Given the description of an element on the screen output the (x, y) to click on. 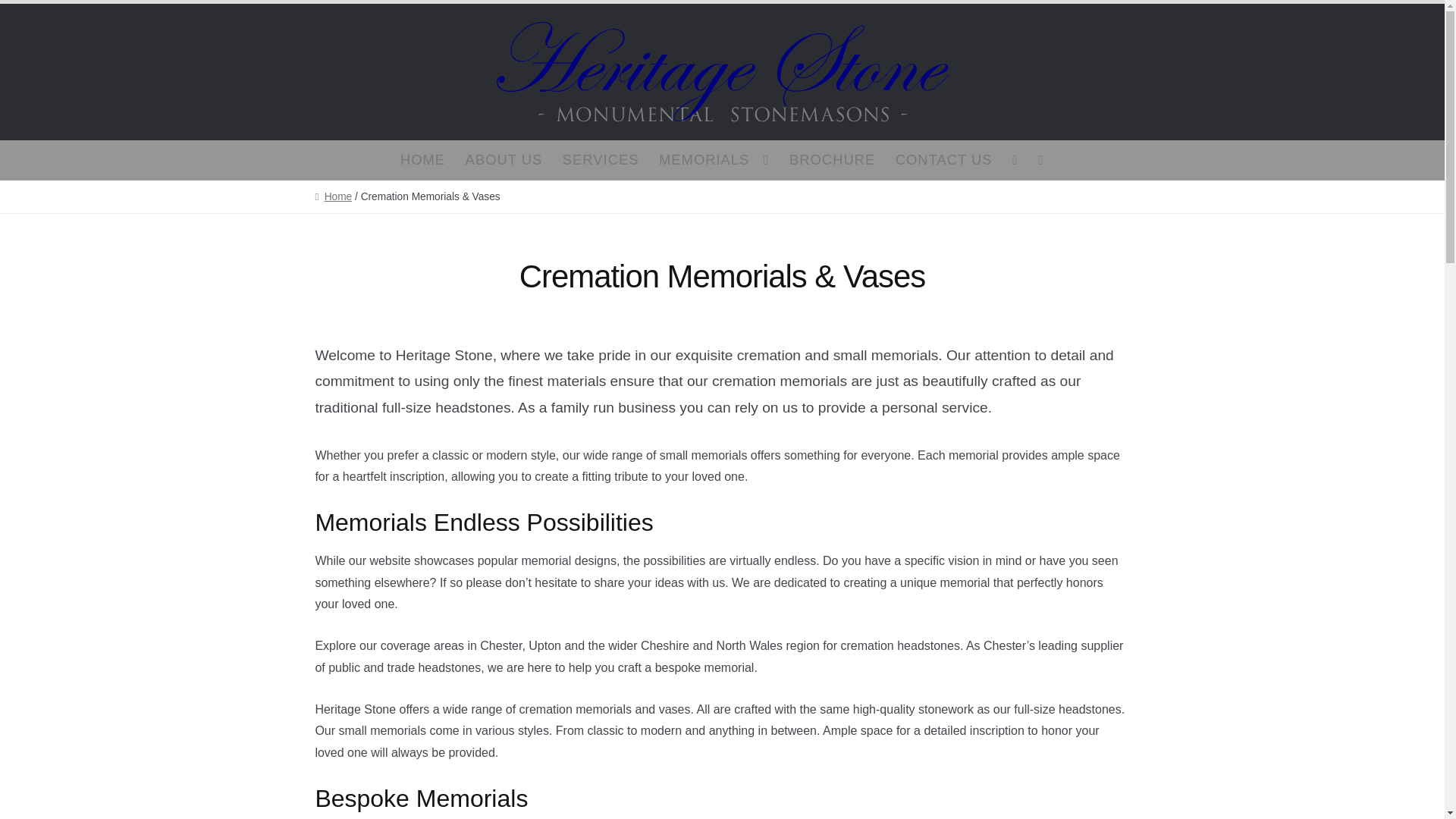
ABOUT US (504, 159)
CONTACT US (943, 159)
HOME (421, 159)
MEMORIALS (713, 159)
BROCHURE (831, 159)
SERVICES (600, 159)
Home (333, 196)
